Given the description of an element on the screen output the (x, y) to click on. 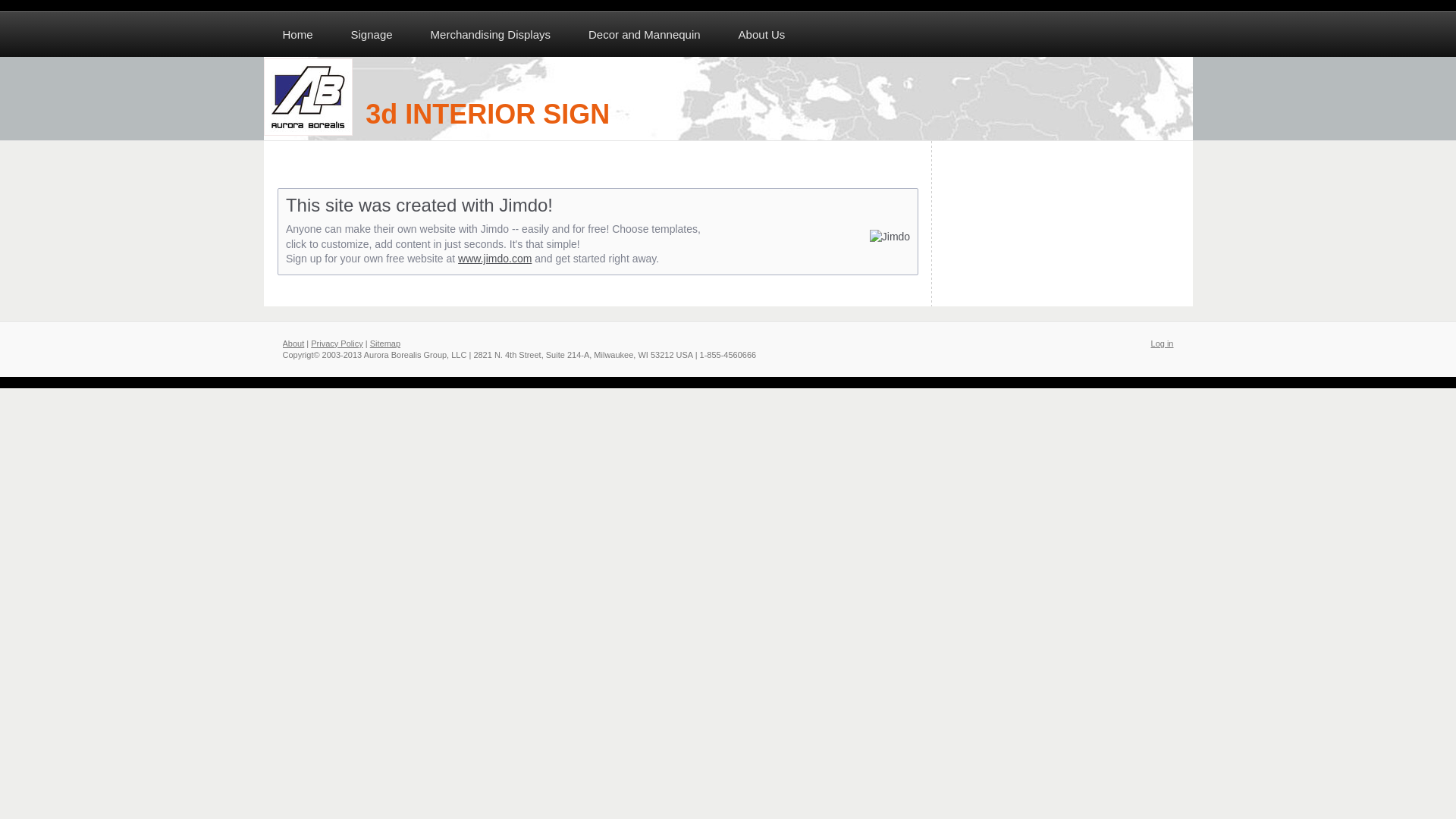
About Element type: text (293, 343)
Decor and Mannequin Element type: text (644, 34)
www.jimdo.com Element type: text (494, 258)
Privacy Policy Element type: text (336, 343)
About Us Element type: text (761, 34)
Signage Element type: text (371, 34)
Merchandising Displays Element type: text (490, 34)
3d INTERIOR SIGN Element type: text (727, 98)
Home Element type: text (297, 34)
Jimdo Element type: hover (886, 237)
Sitemap Element type: text (385, 343)
Log in Element type: text (1162, 343)
